Given the description of an element on the screen output the (x, y) to click on. 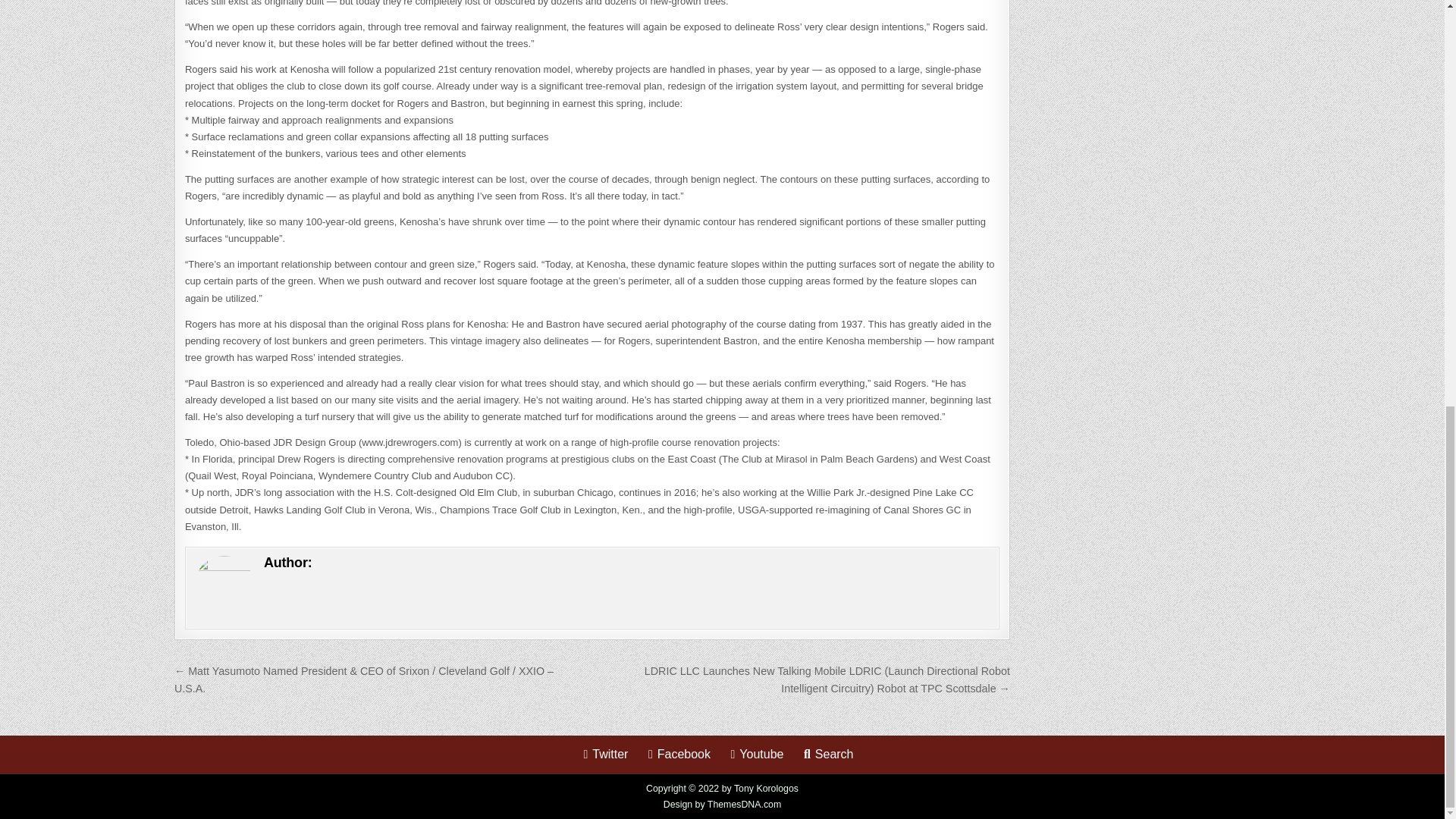
Youtube (756, 753)
Twitter (604, 753)
Search (829, 753)
Facebook (678, 753)
Design by ThemesDNA.com (722, 804)
